Given the description of an element on the screen output the (x, y) to click on. 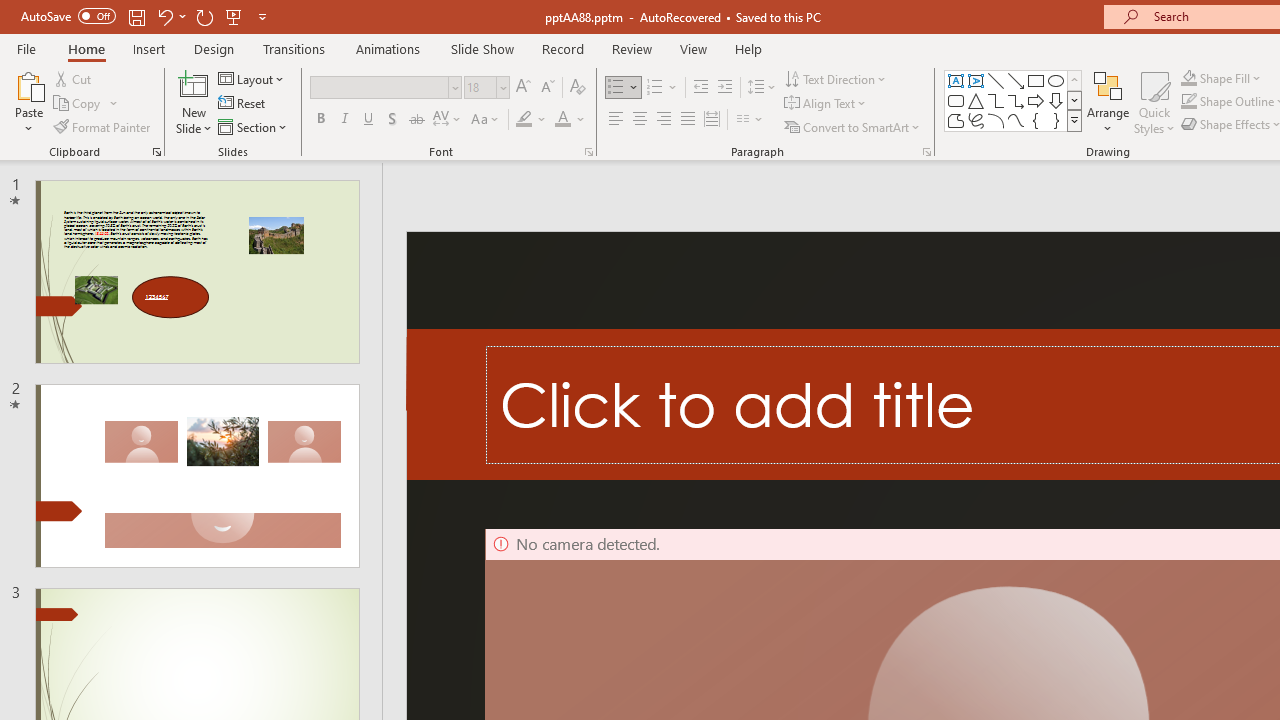
Text Direction (836, 78)
AutoSave (68, 16)
Columns (750, 119)
Arrow: Down (1055, 100)
Font Color (569, 119)
AutomationID: ShapesInsertGallery (1014, 100)
Shadow (392, 119)
Quick Access Toolbar (145, 16)
Review (631, 48)
Line (995, 80)
Change Case (486, 119)
Format Painter (103, 126)
Design (214, 48)
Animations (388, 48)
Arrow: Right (1035, 100)
